Given the description of an element on the screen output the (x, y) to click on. 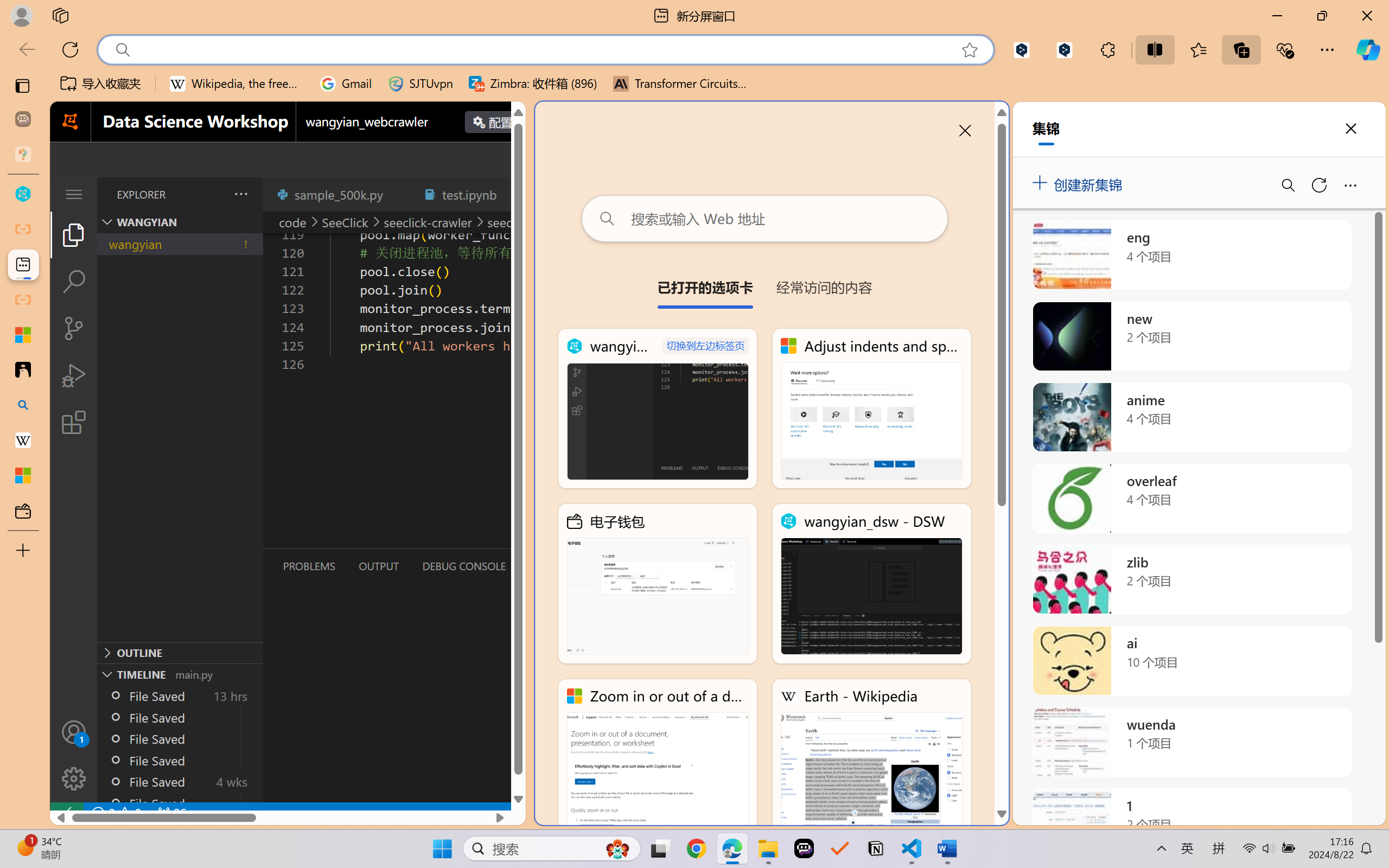
remote (66, 812)
Manage (73, 755)
